Given the description of an element on the screen output the (x, y) to click on. 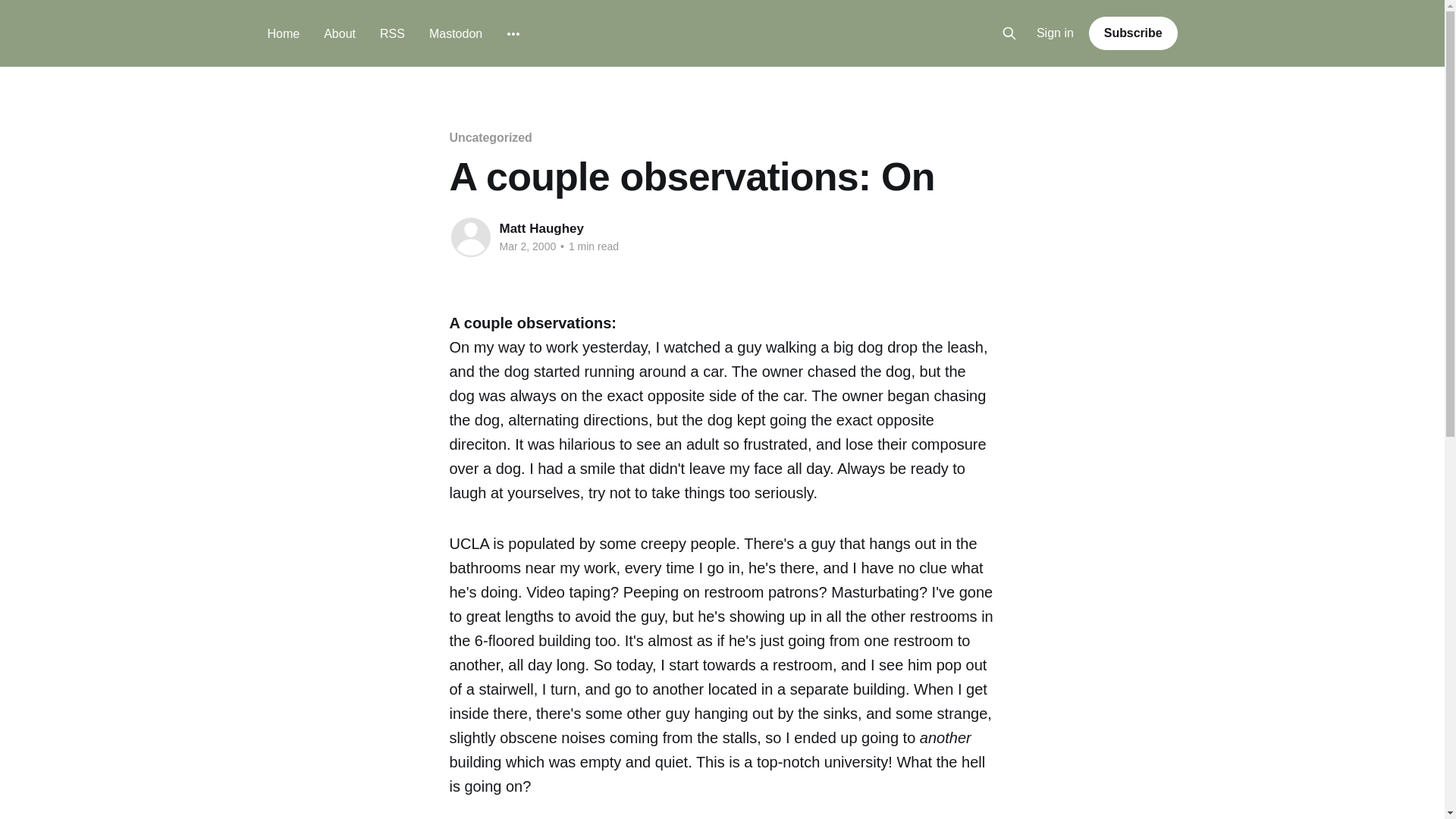
Uncategorized (489, 137)
About (339, 33)
RSS (392, 33)
Sign in (1055, 33)
Matt Haughey (541, 228)
Subscribe (1133, 32)
Home (282, 33)
Mastodon (455, 33)
